Given the description of an element on the screen output the (x, y) to click on. 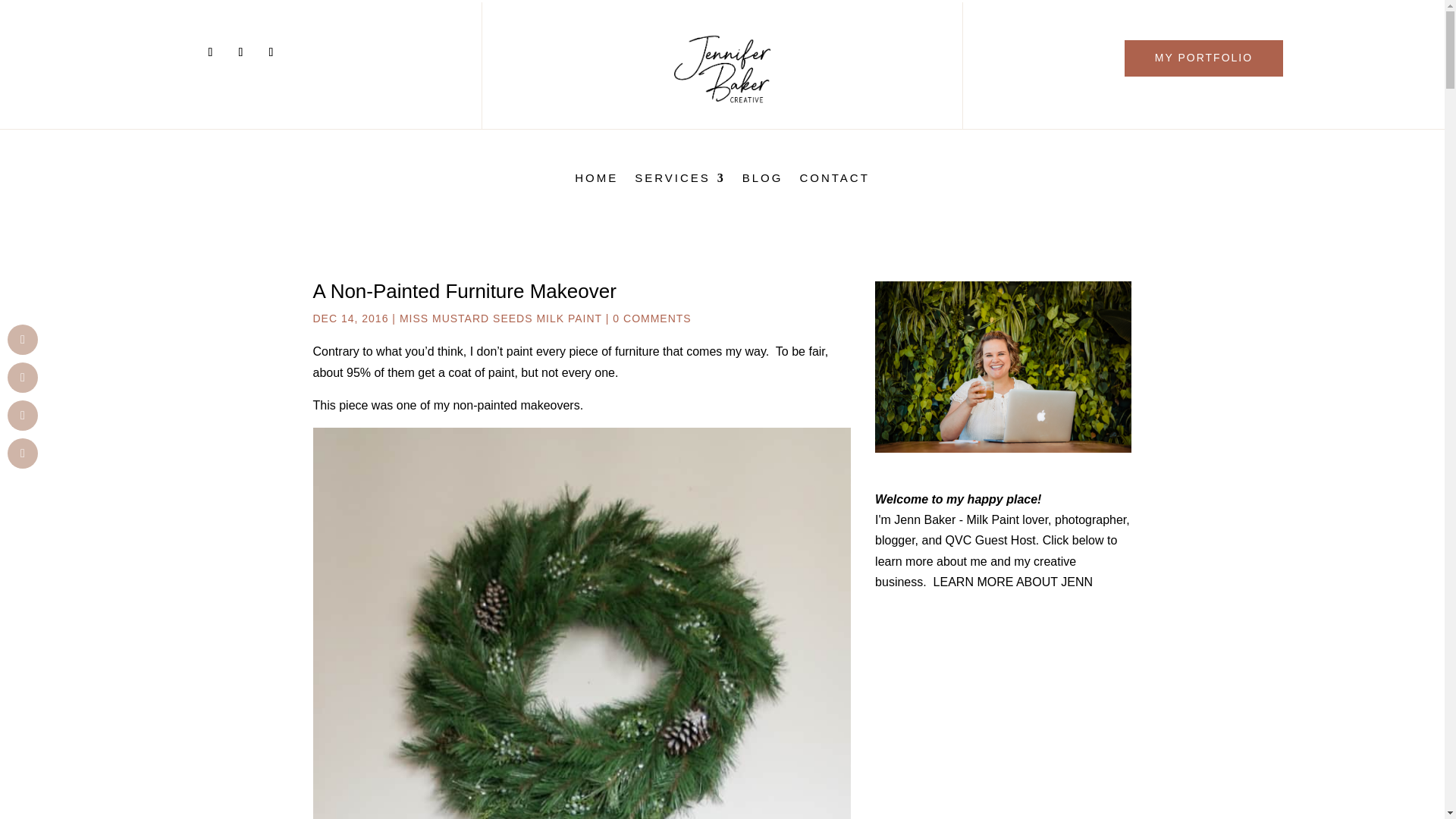
MY PORTFOLIO (1203, 58)
0 COMMENTS (651, 318)
LEARN MORE ABOUT JENN (1013, 581)
CONTACT (834, 180)
Follow on Facebook (210, 52)
Follow on Instagram (239, 52)
MISS MUSTARD SEEDS MILK PAINT (500, 318)
Follow on Pinterest (270, 52)
Advertisement (1003, 717)
BLOG (762, 180)
HOME (596, 180)
SERVICES (679, 180)
